Given the description of an element on the screen output the (x, y) to click on. 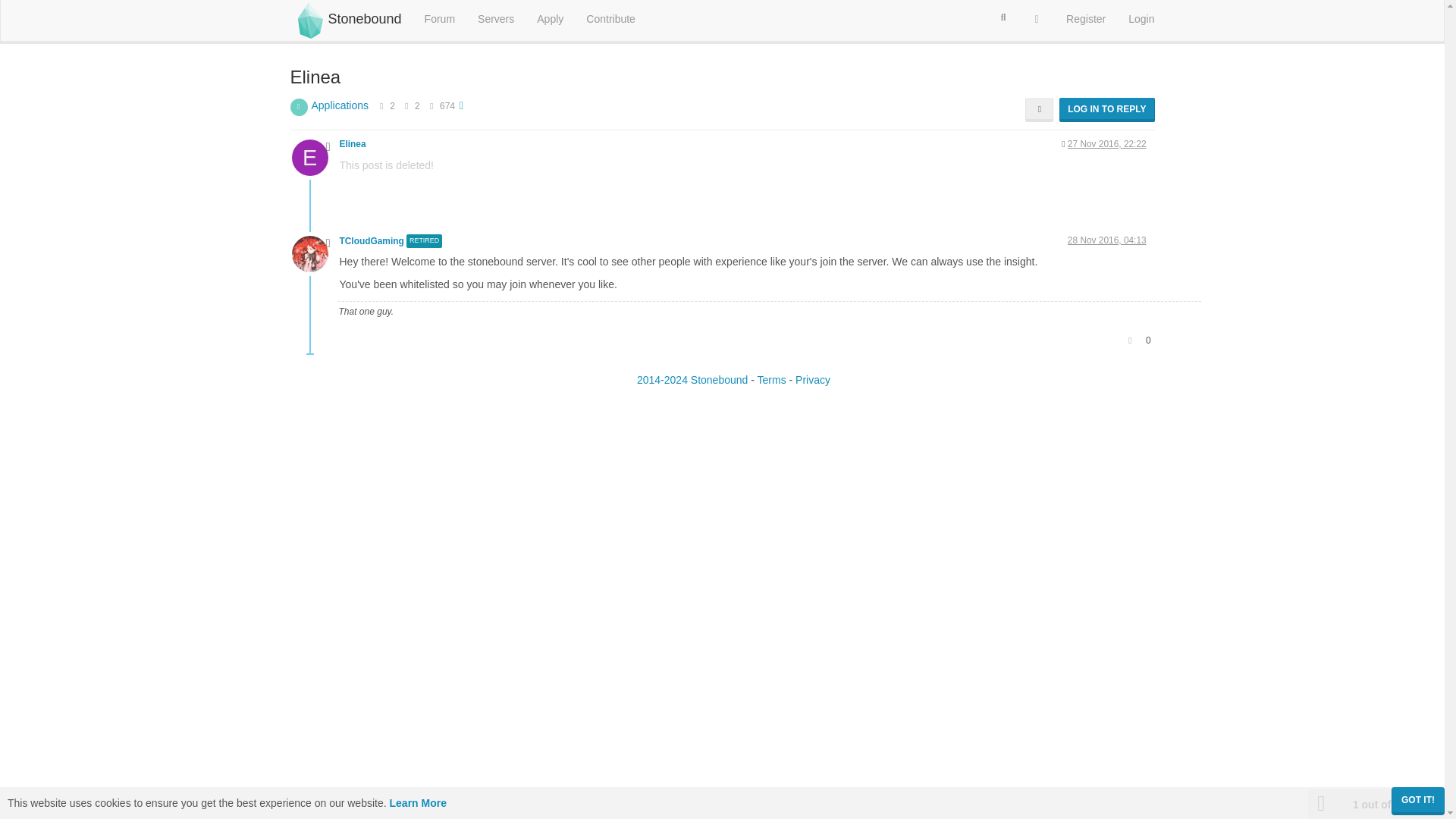
Contribute (610, 18)
Register (1085, 18)
Apply (550, 18)
Menu (1037, 18)
Forum (439, 18)
Servers (495, 18)
Apply (550, 18)
Contribute (610, 18)
Search (1003, 17)
Applications (339, 105)
Posts (406, 105)
Posters (381, 105)
Categories (439, 18)
Login (1141, 18)
Servers (495, 18)
